Given the description of an element on the screen output the (x, y) to click on. 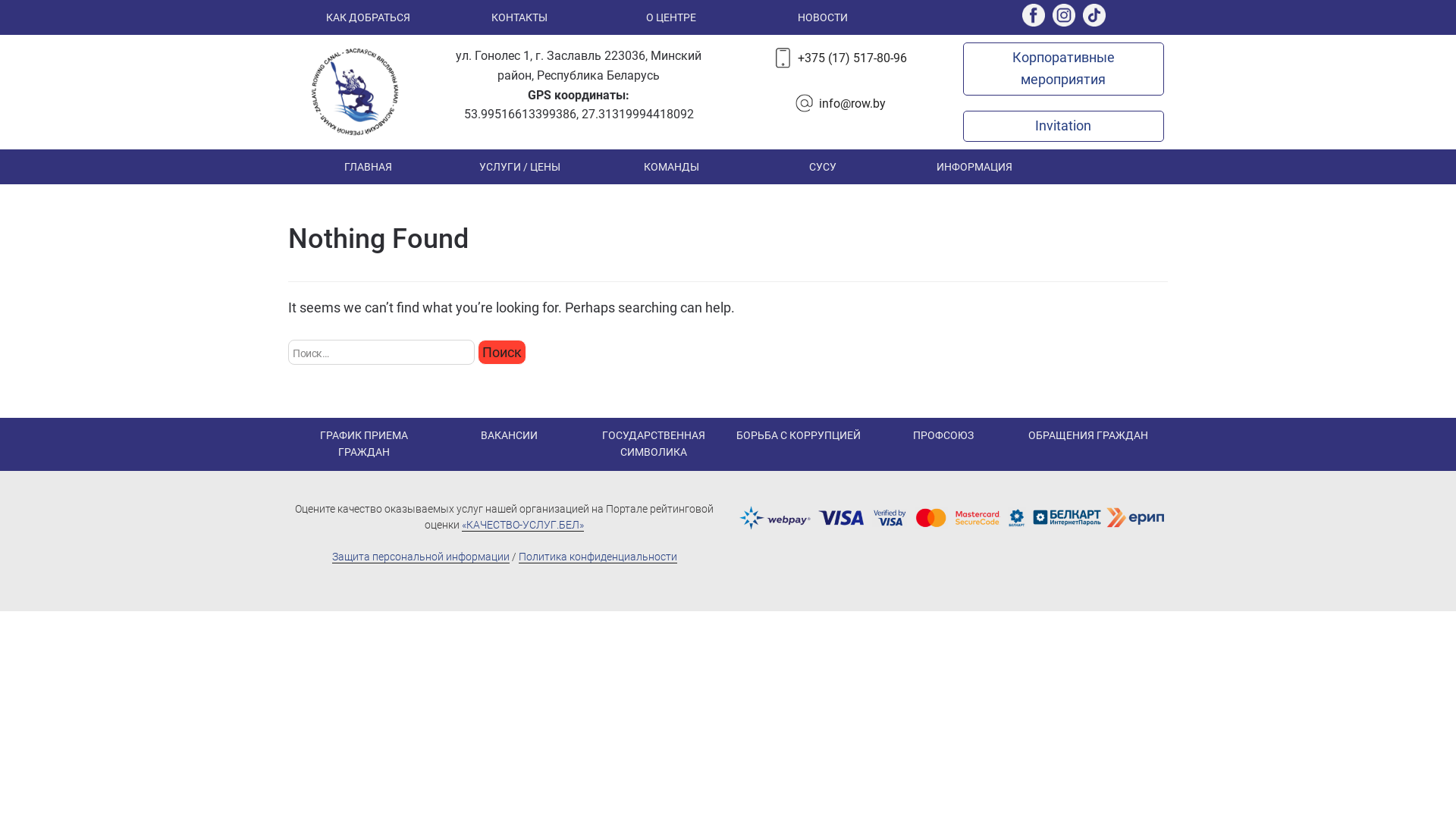
Invitation Element type: text (1063, 125)
+375 (17) 517-80-96 Element type: text (851, 58)
info@row.by Element type: text (852, 104)
